Given the description of an element on the screen output the (x, y) to click on. 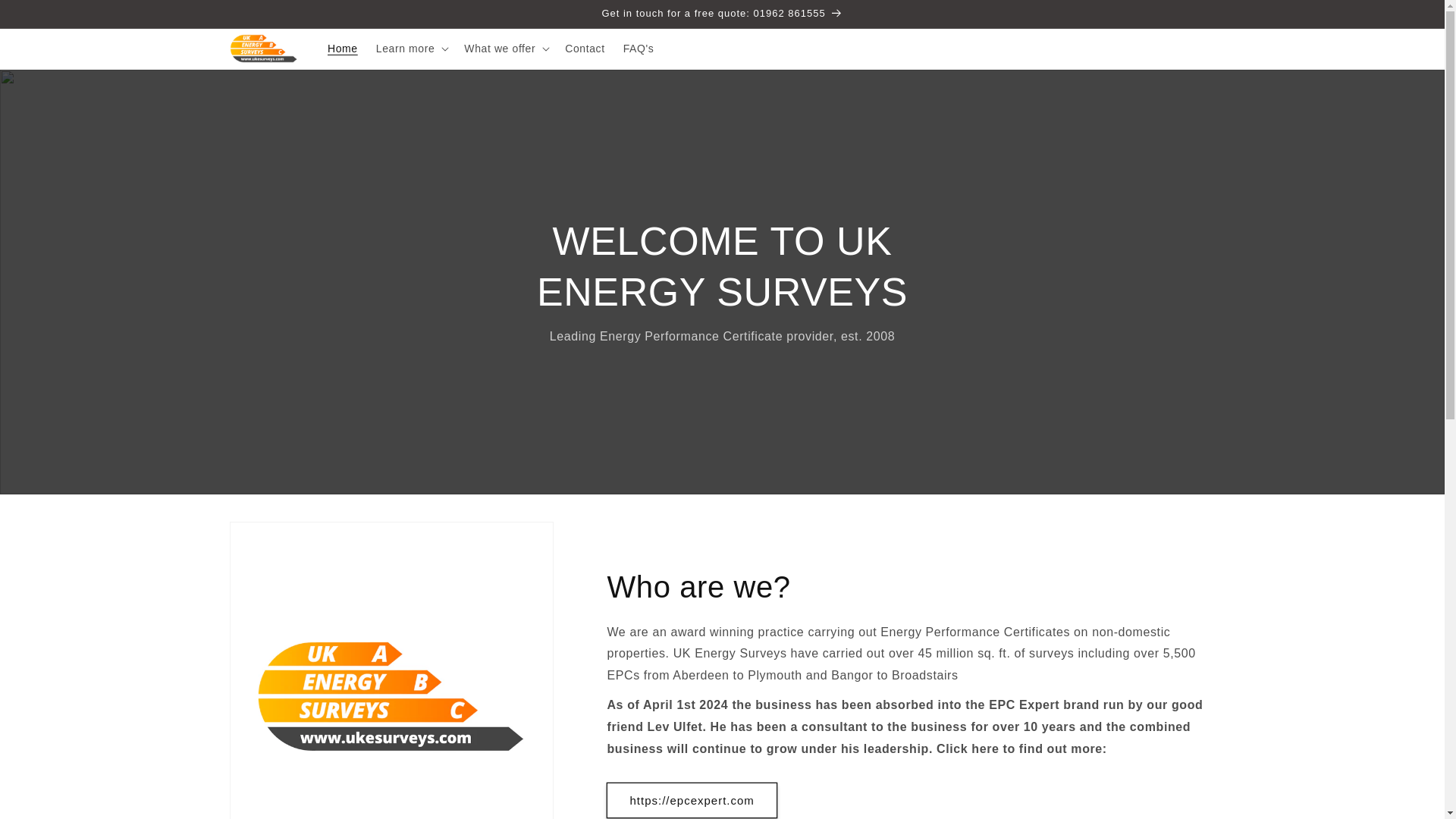
Home (342, 48)
Skip to content (45, 17)
Contact (584, 48)
FAQ's (638, 48)
